Given the description of an element on the screen output the (x, y) to click on. 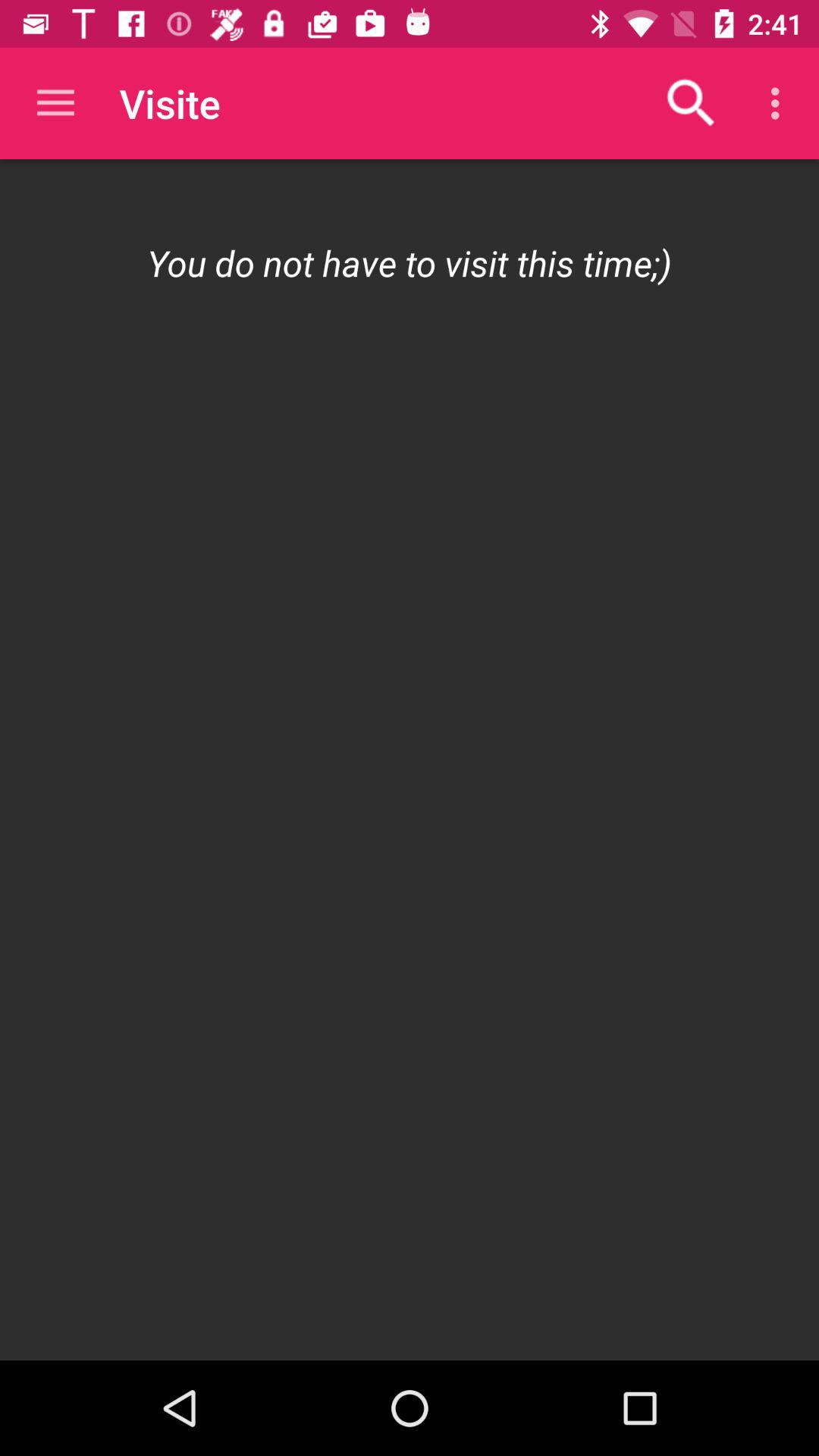
turn off the item above the you do not item (55, 103)
